Given the description of an element on the screen output the (x, y) to click on. 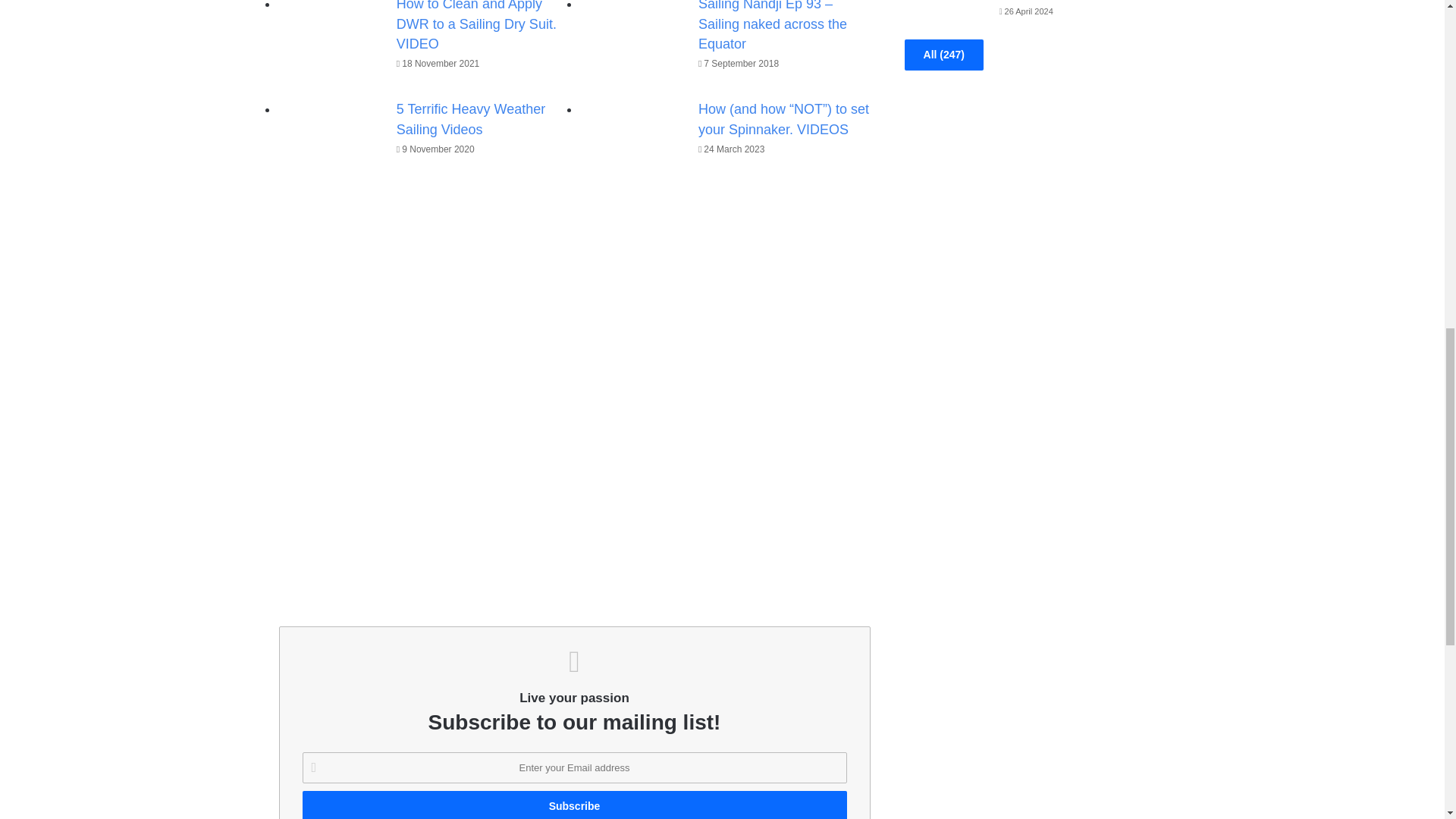
Subscribe (573, 805)
